Given the description of an element on the screen output the (x, y) to click on. 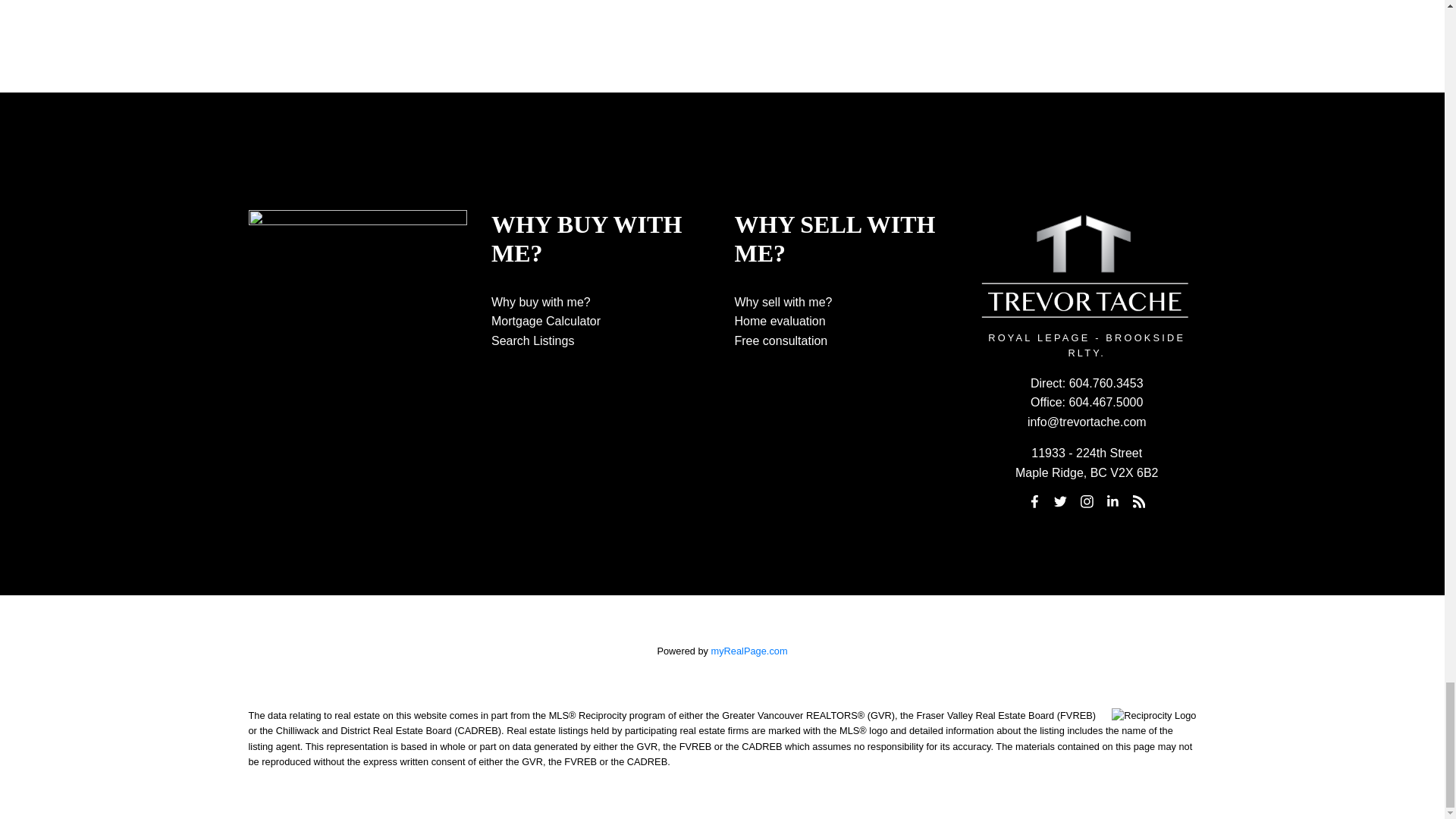
Twitter (1060, 501)
instagram (1086, 501)
linkedin (1113, 501)
Facebook (1034, 501)
Blog (1139, 501)
